Given the description of an element on the screen output the (x, y) to click on. 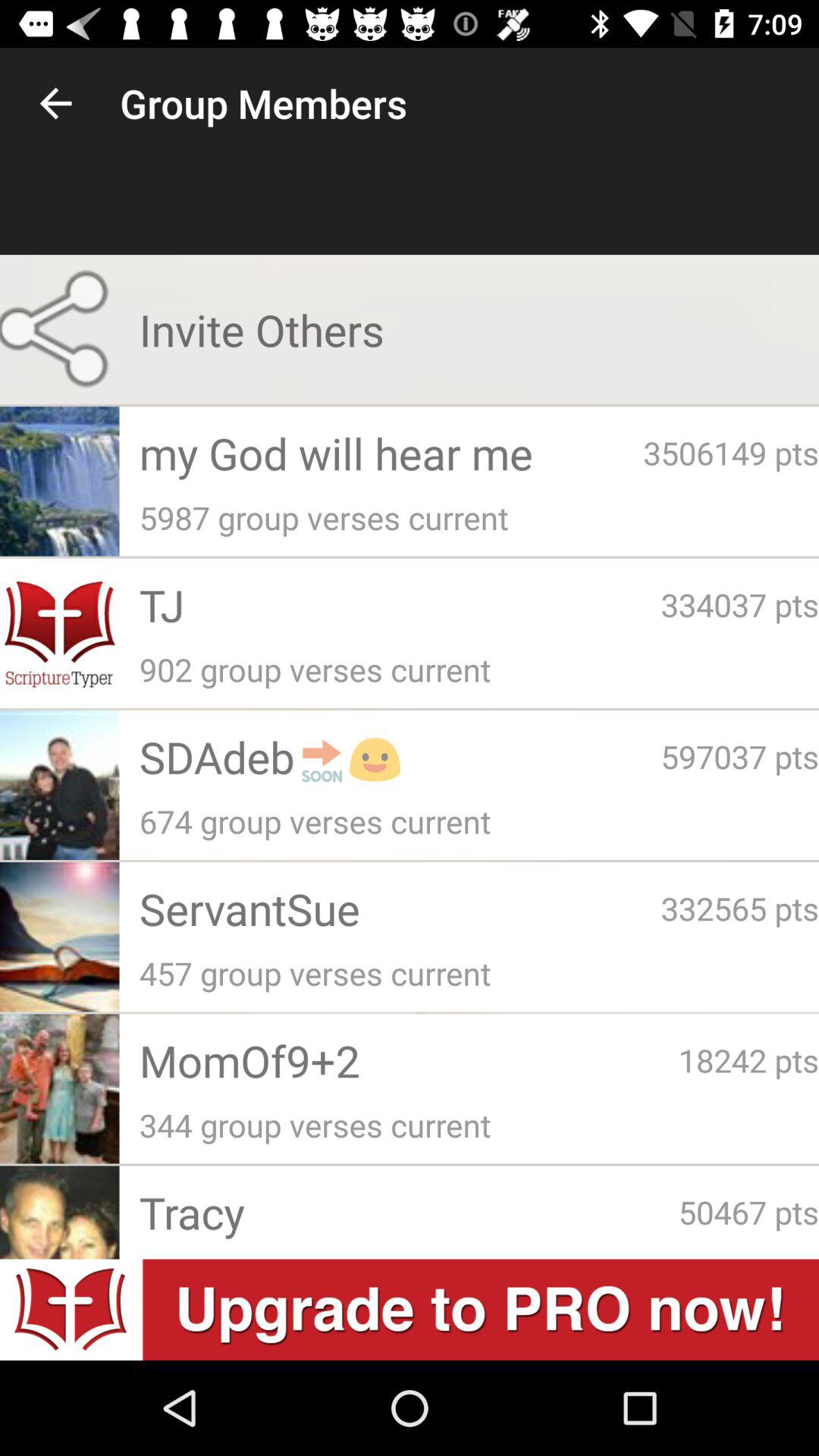
open the servantsue item (399, 908)
